Given the description of an element on the screen output the (x, y) to click on. 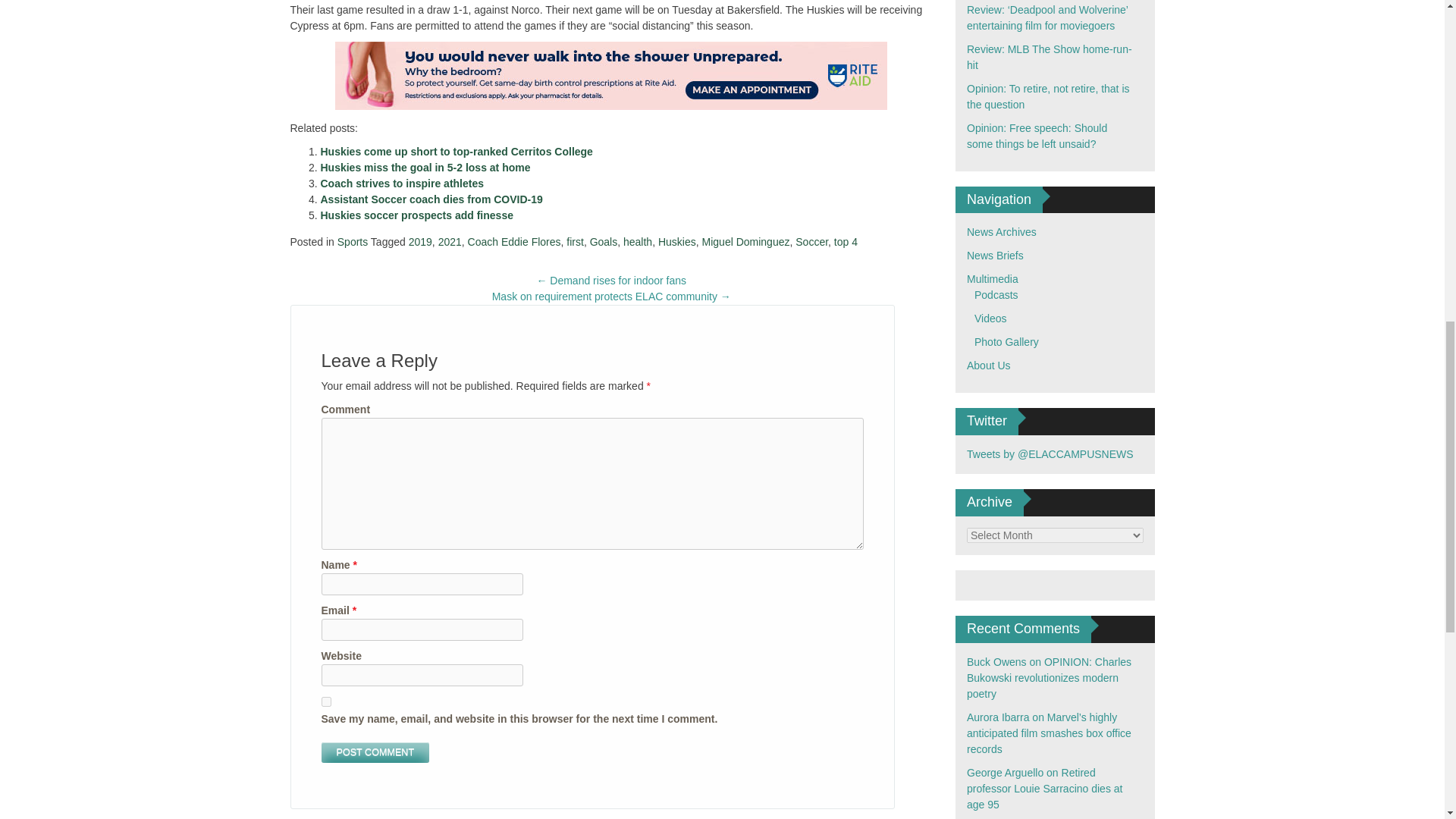
Coach strives to inspire athletes (401, 183)
Post Comment (375, 752)
Huskies come up short to top-ranked Cerritos College (456, 151)
yes (326, 701)
Goals (603, 241)
Huskies come up short to top-ranked Cerritos College (456, 151)
Huskies (676, 241)
health (637, 241)
Assistant Soccer coach dies from COVID-19 (430, 199)
Huskies soccer prospects add finesse (416, 215)
